Given the description of an element on the screen output the (x, y) to click on. 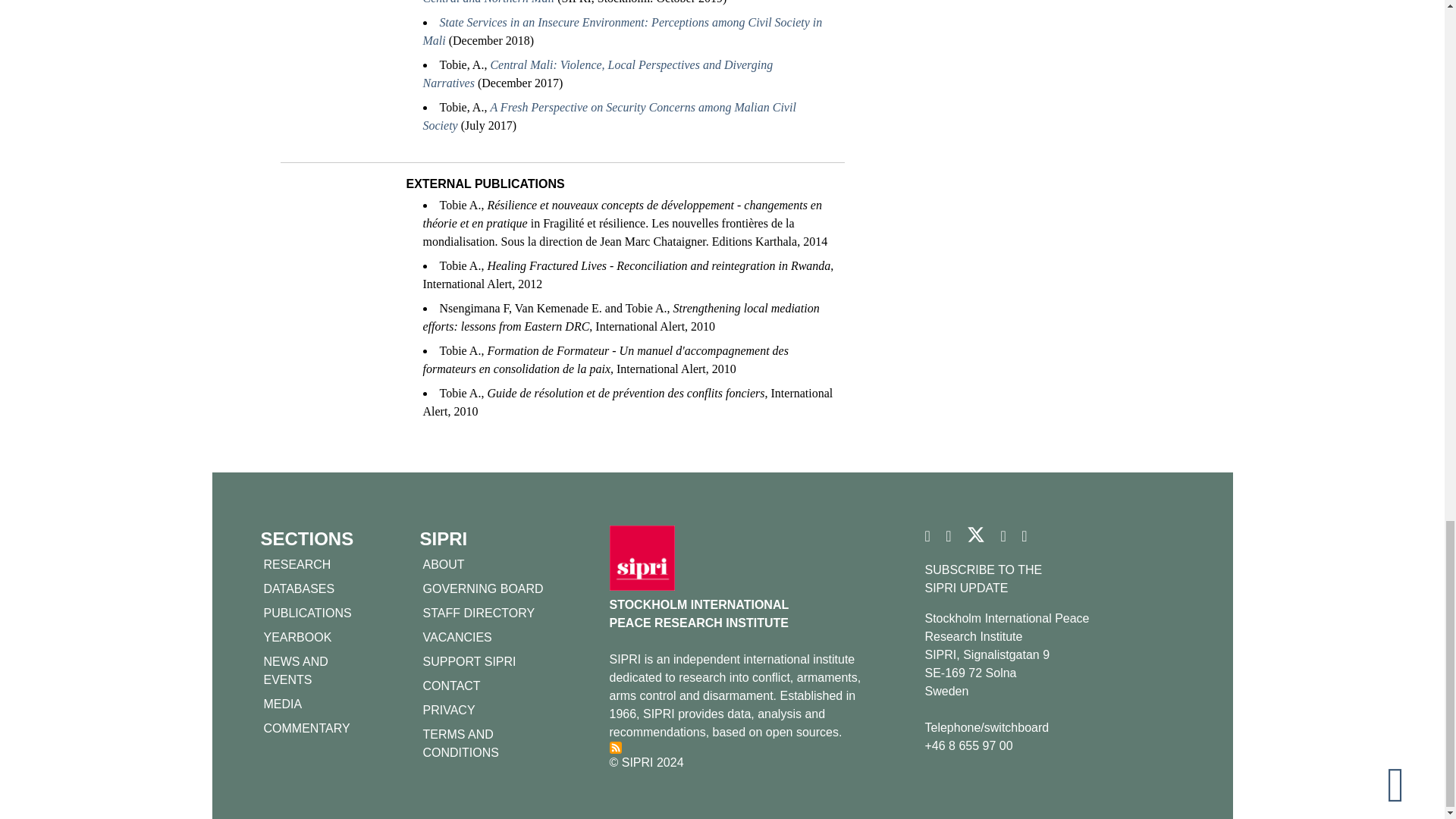
SIPRI RSS feed (615, 747)
Follow us on Twitter (975, 539)
